Given the description of an element on the screen output the (x, y) to click on. 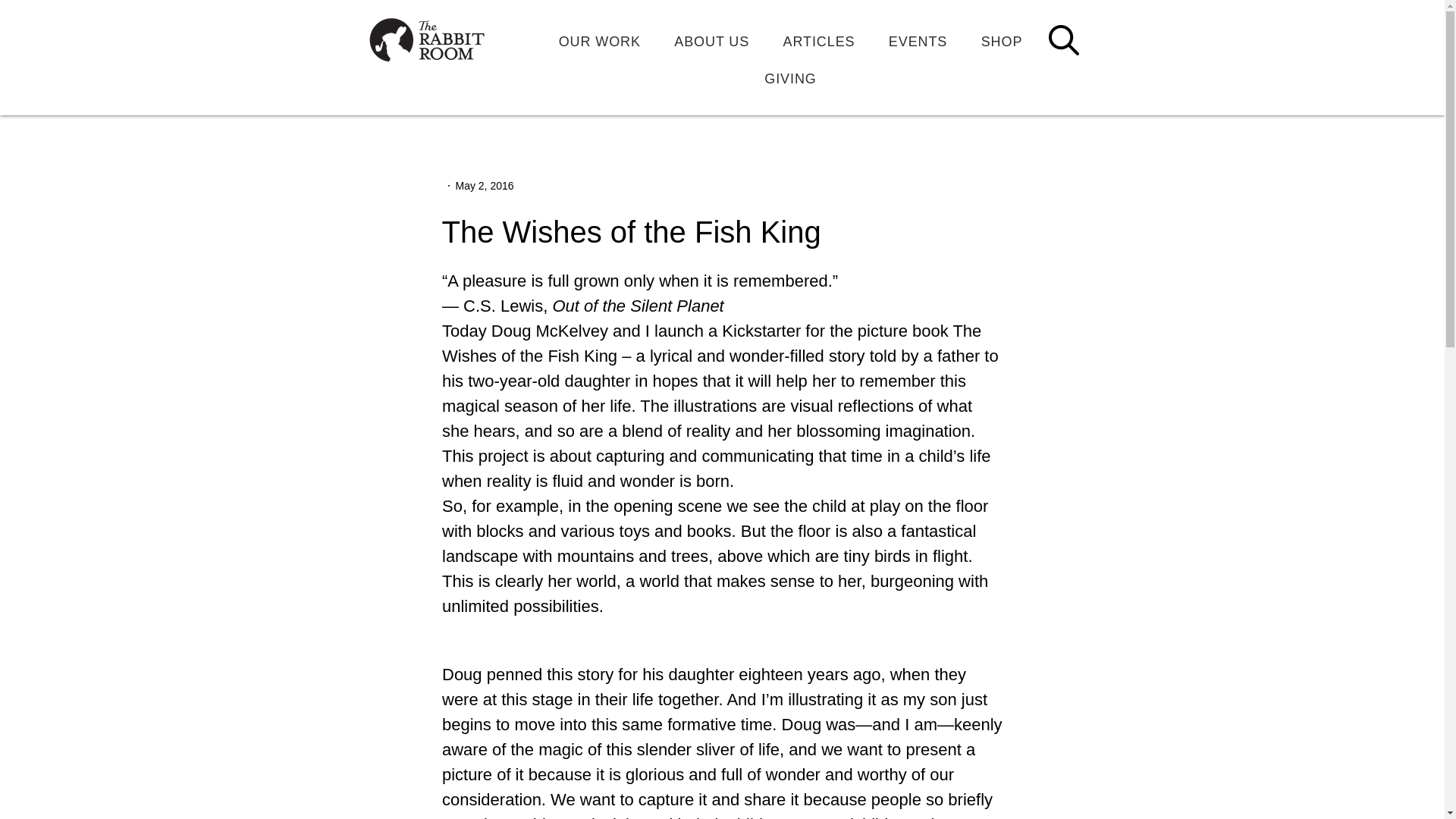
May 2, 2016 (483, 184)
ABOUT US (711, 41)
EVENTS (917, 41)
ARTICLES (817, 41)
GIVING (789, 79)
SHOP (1000, 41)
